Given the description of an element on the screen output the (x, y) to click on. 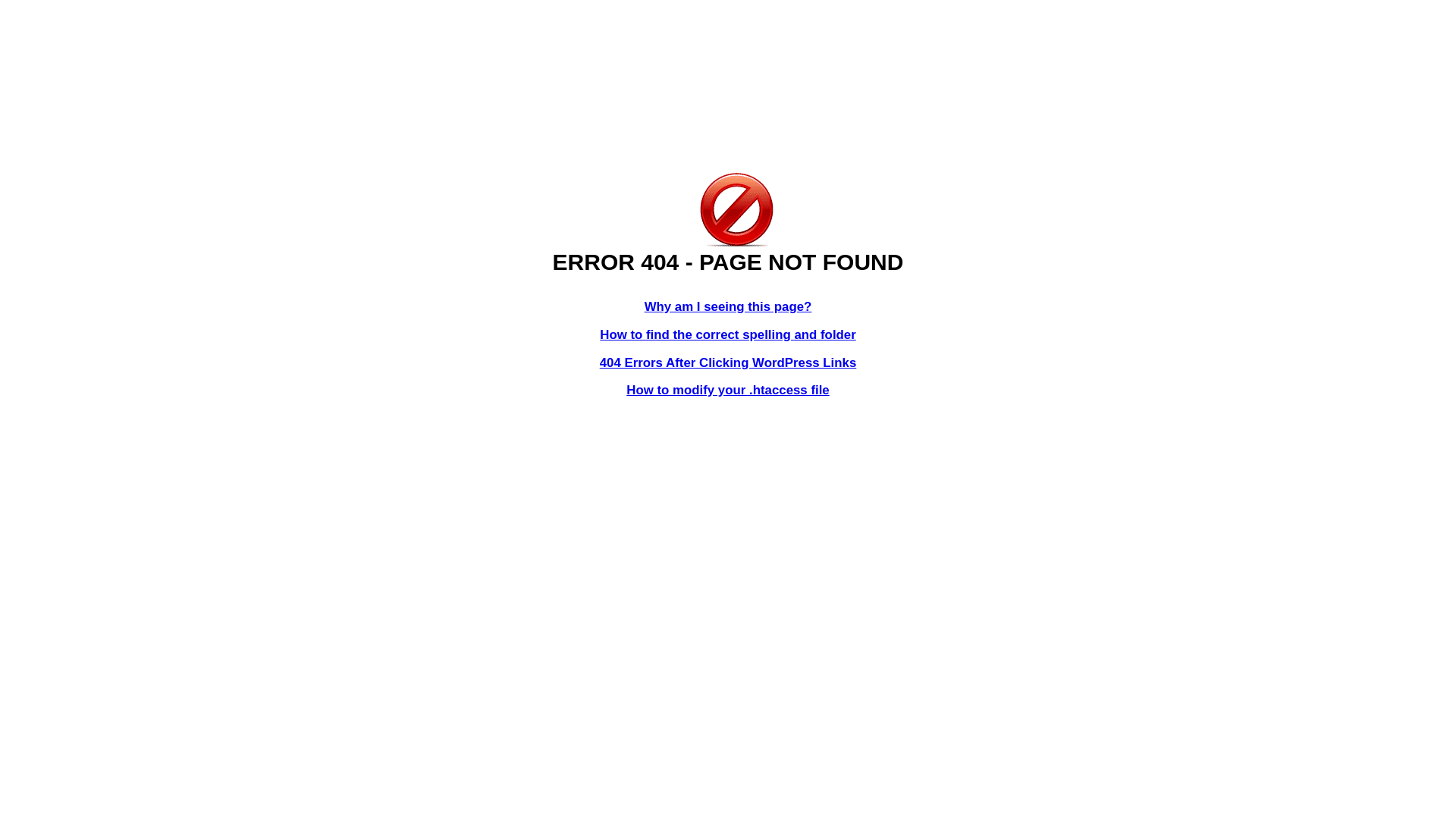
How to modify your .htaccess file Element type: text (727, 389)
404 Errors After Clicking WordPress Links Element type: text (727, 362)
Why am I seeing this page? Element type: text (728, 306)
How to find the correct spelling and folder Element type: text (727, 334)
